Given the description of an element on the screen output the (x, y) to click on. 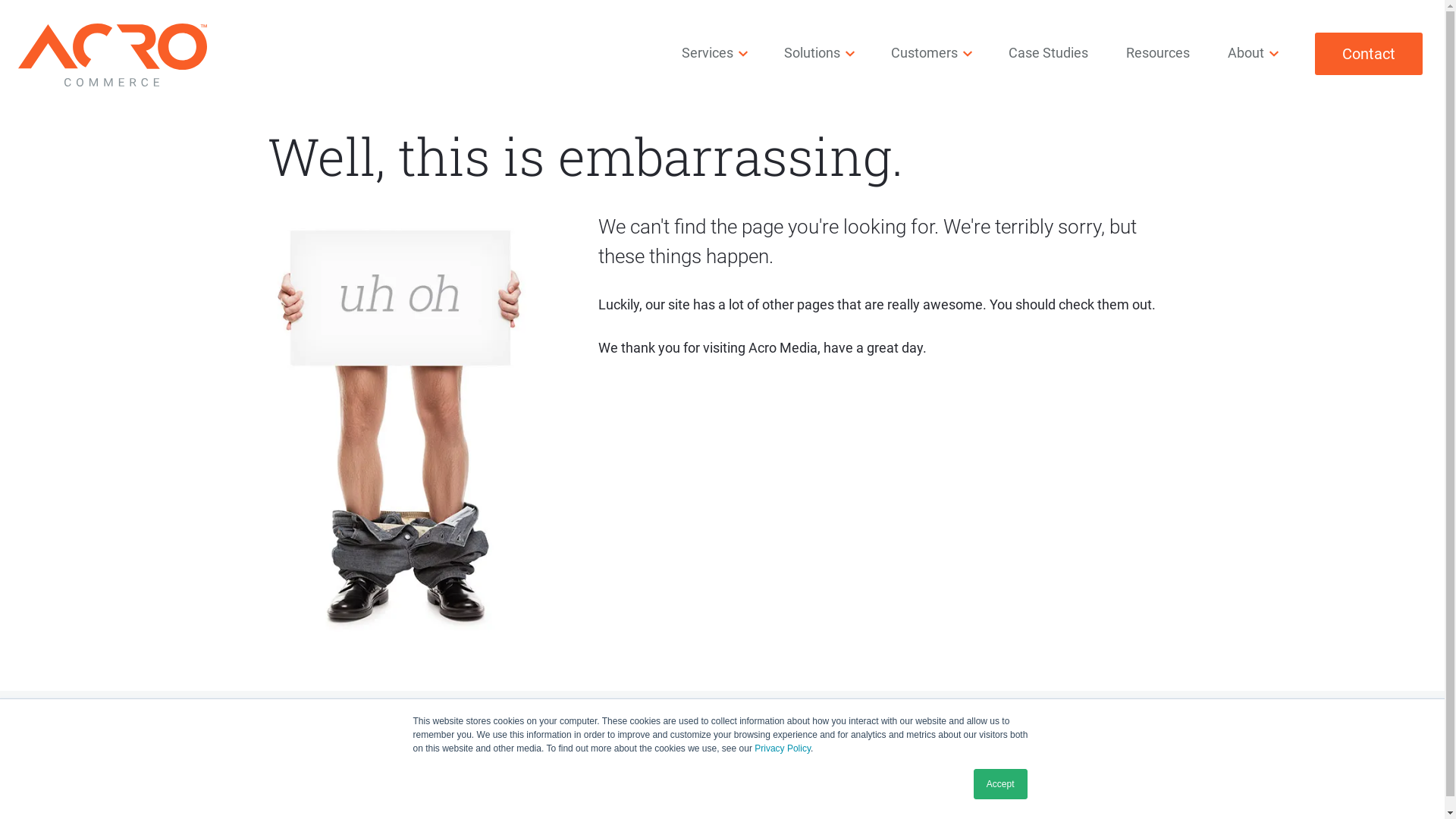
Contact Element type: text (992, 723)
Follow us on Twitter! Element type: hover (51, 724)
Connect with us on LinkedIn! Element type: hover (124, 724)
Solutions Element type: text (811, 52)
Resources Element type: text (452, 723)
Resources Element type: text (1157, 52)
Follow us on Facebook! Element type: hover (15, 724)
About Element type: text (1245, 52)
Subscribe to us on YouTube! Element type: hover (87, 724)
Newsletter Element type: text (570, 723)
Case Studies Element type: text (1048, 52)
Services Element type: text (707, 52)
Privacy Policy Element type: text (782, 748)
Accept Element type: text (1000, 783)
Careers Element type: text (890, 723)
Contact Element type: text (1368, 52)
AcroNet Element type: text (919, 795)
Privacy Policy Element type: text (837, 795)
Podcast Element type: text (681, 723)
Customers Element type: text (923, 52)
Reviews Element type: text (785, 723)
